Given the description of an element on the screen output the (x, y) to click on. 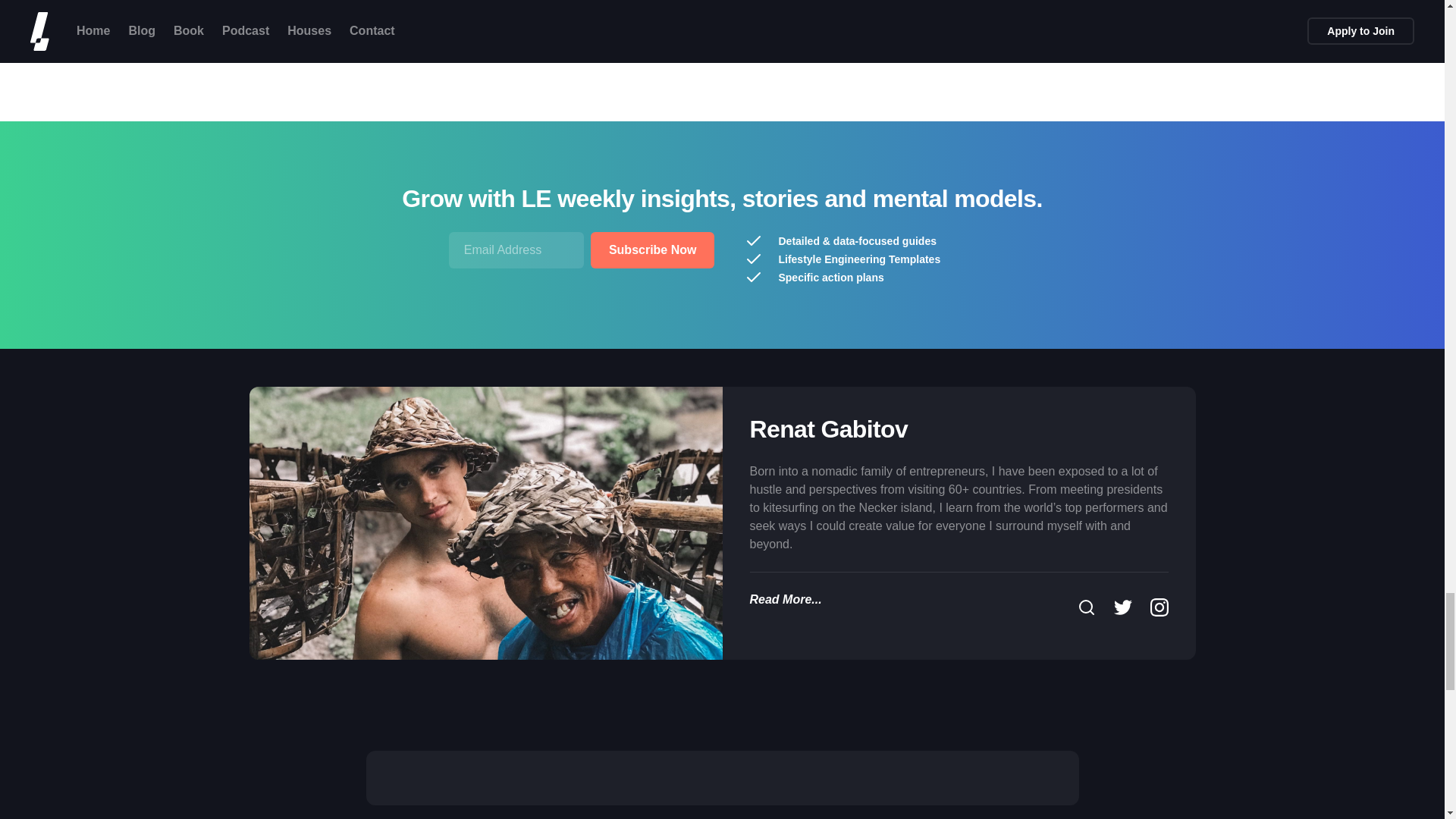
Subscribe Now (652, 249)
Read More... (785, 599)
Subscribe Now (652, 249)
